Given the description of an element on the screen output the (x, y) to click on. 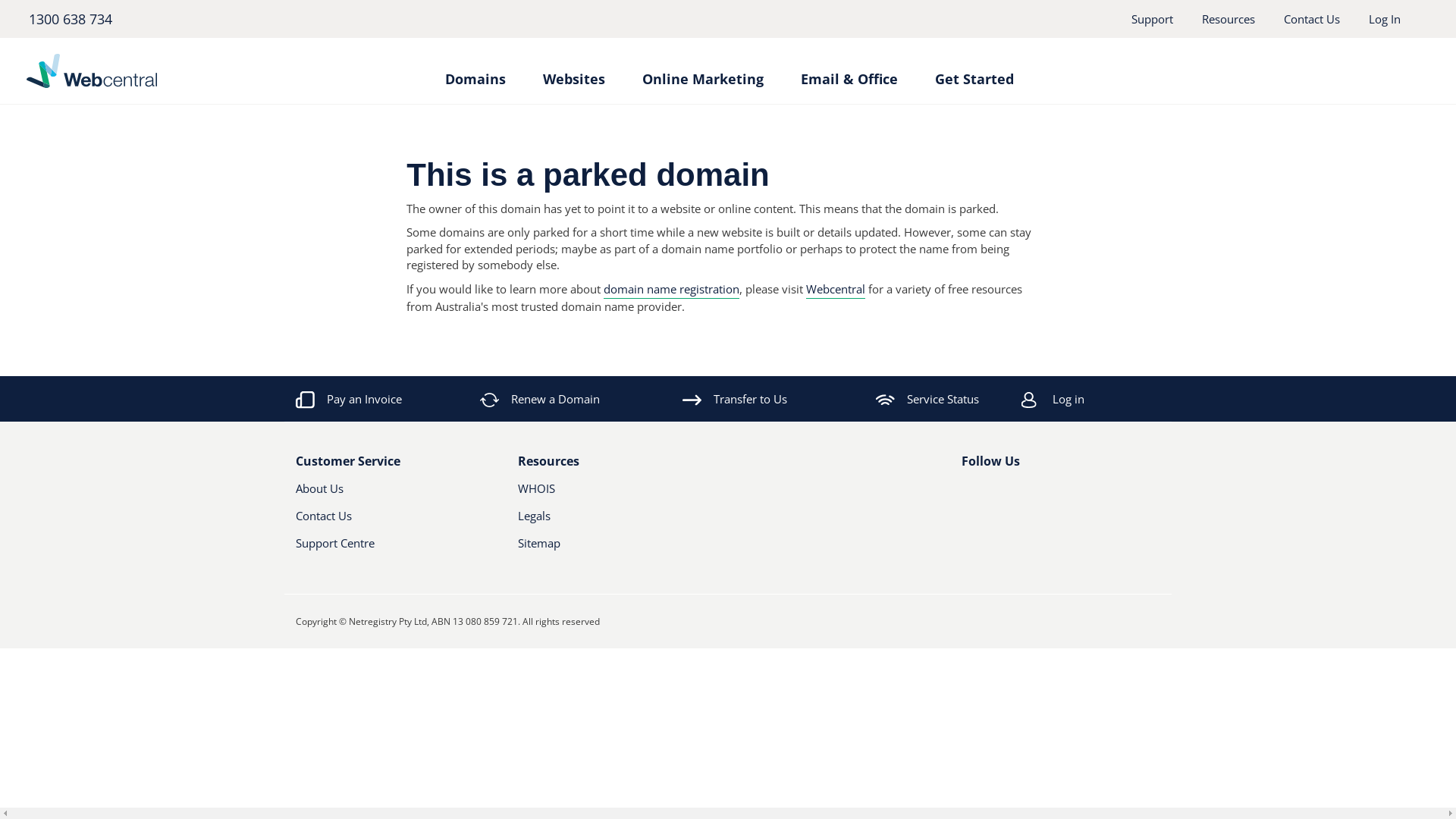
Log in Element type: text (1111, 398)
Support Centre Element type: text (395, 548)
WHOIS Element type: text (601, 494)
Service Status Element type: text (927, 398)
Facebook Element type: hover (970, 494)
Get Started Element type: text (973, 71)
Resources Element type: text (1228, 18)
Log In Element type: text (1384, 18)
Contact Us Element type: text (1311, 18)
1300 638 734 Element type: text (69, 18)
Sitemap Element type: text (616, 548)
Support Element type: text (1152, 18)
Pay an Invoice Element type: text (348, 398)
Renew a Domain Element type: text (540, 398)
Webcentral Element type: text (835, 289)
About Us Element type: text (379, 494)
Websites Element type: text (573, 71)
domain name registration Element type: text (671, 289)
Webcentral Element type: hover (163, 70)
Contact Us Element type: text (379, 521)
Domains Element type: text (474, 71)
Youtube Element type: hover (1019, 494)
Twitter Element type: hover (993, 494)
Email & Office Element type: text (848, 71)
Online Marketing Element type: text (701, 71)
RSS Element type: hover (1045, 494)
Transfer to Us Element type: text (734, 398)
Legals Element type: text (601, 521)
